Given the description of an element on the screen output the (x, y) to click on. 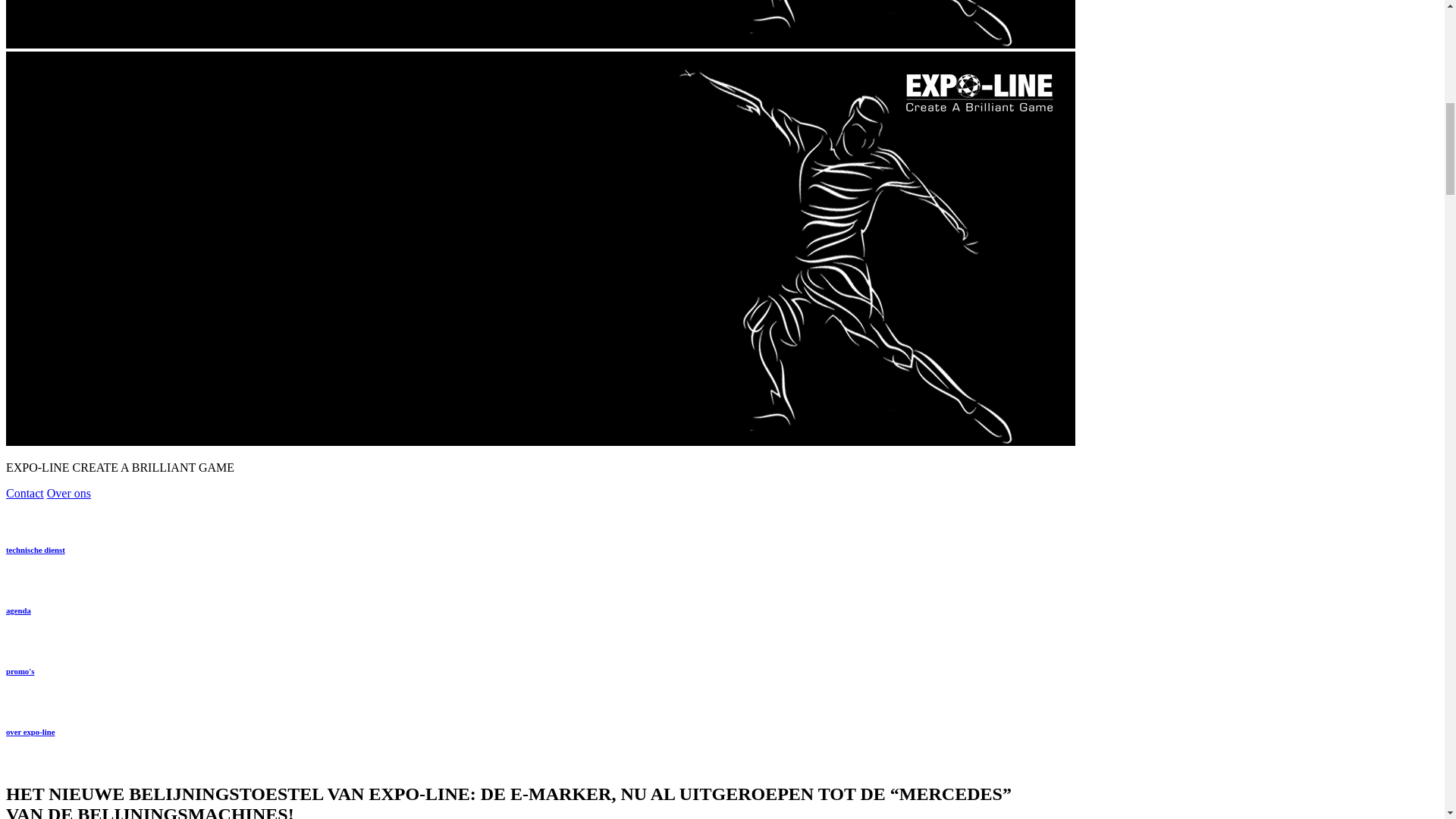
promo's (19, 670)
over expo-line (30, 731)
Over ons (68, 492)
Contact (24, 492)
technische dienst (35, 549)
agenda (17, 610)
